Given the description of an element on the screen output the (x, y) to click on. 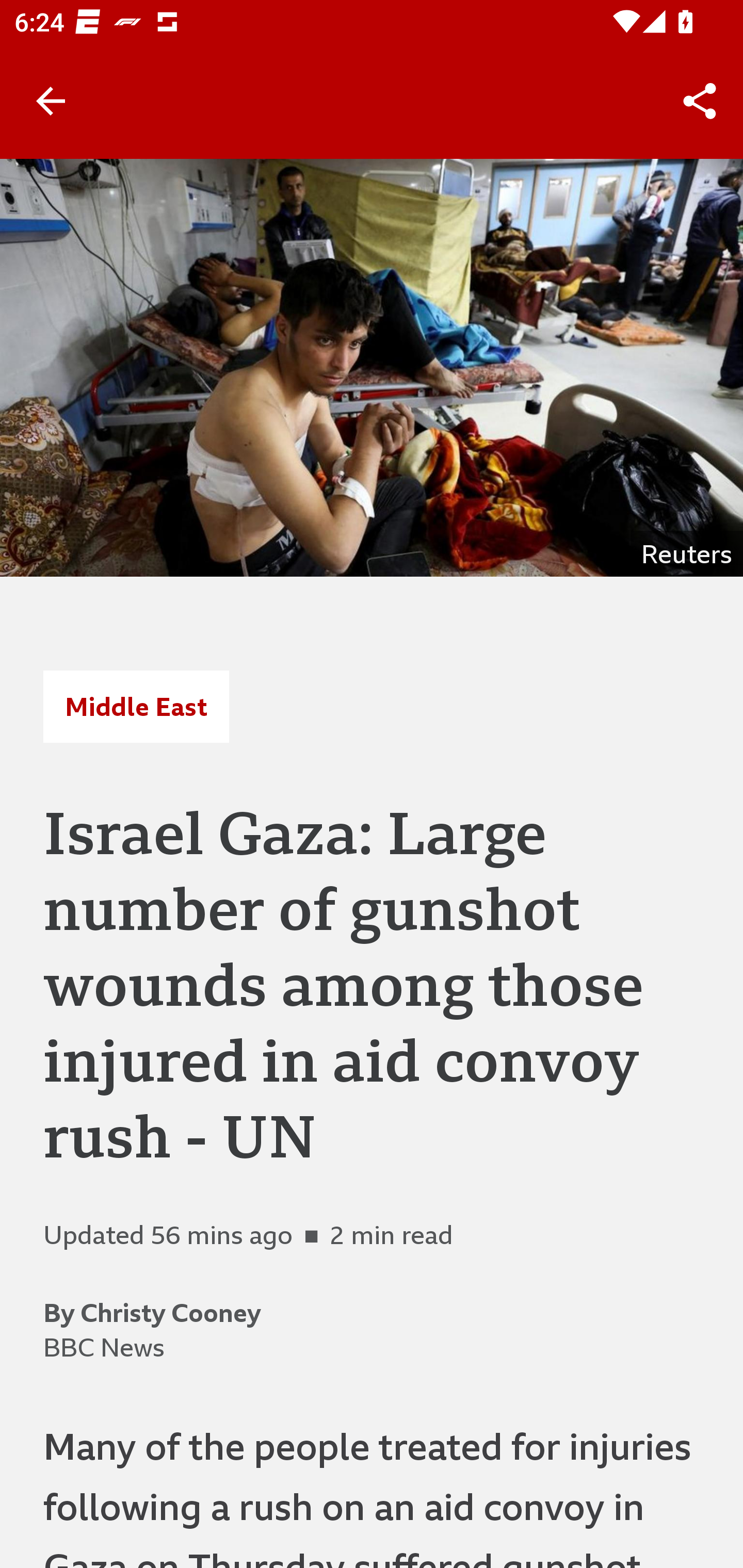
Back (50, 101)
Share (699, 101)
Middle East (135, 706)
